Given the description of an element on the screen output the (x, y) to click on. 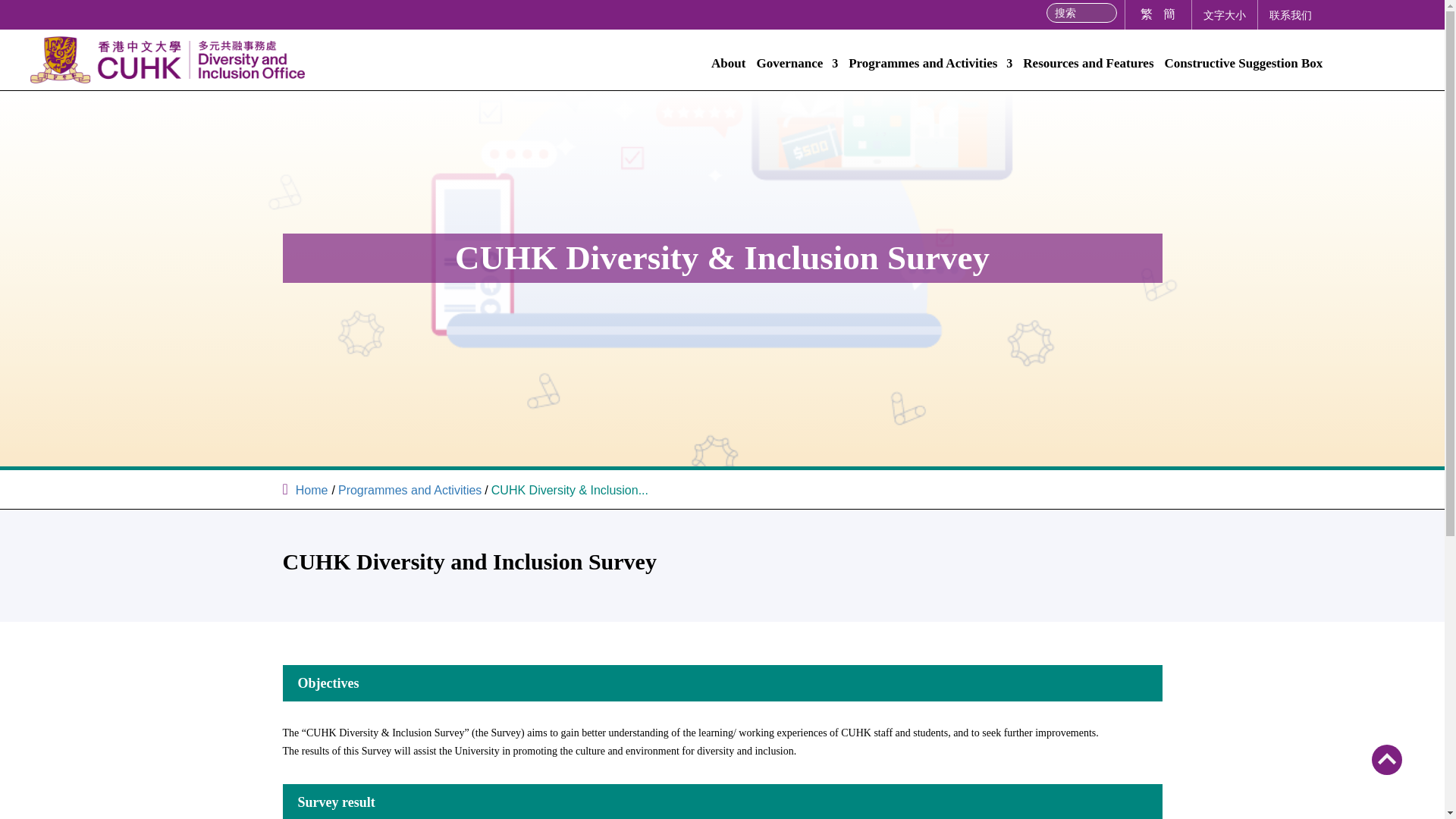
Governance (796, 66)
About (728, 66)
Programmes and Activities (409, 490)
Search (13, 9)
Programmes and Activities (929, 66)
Constructive Suggestion Box (1243, 66)
Resources and Features (1088, 66)
